Given the description of an element on the screen output the (x, y) to click on. 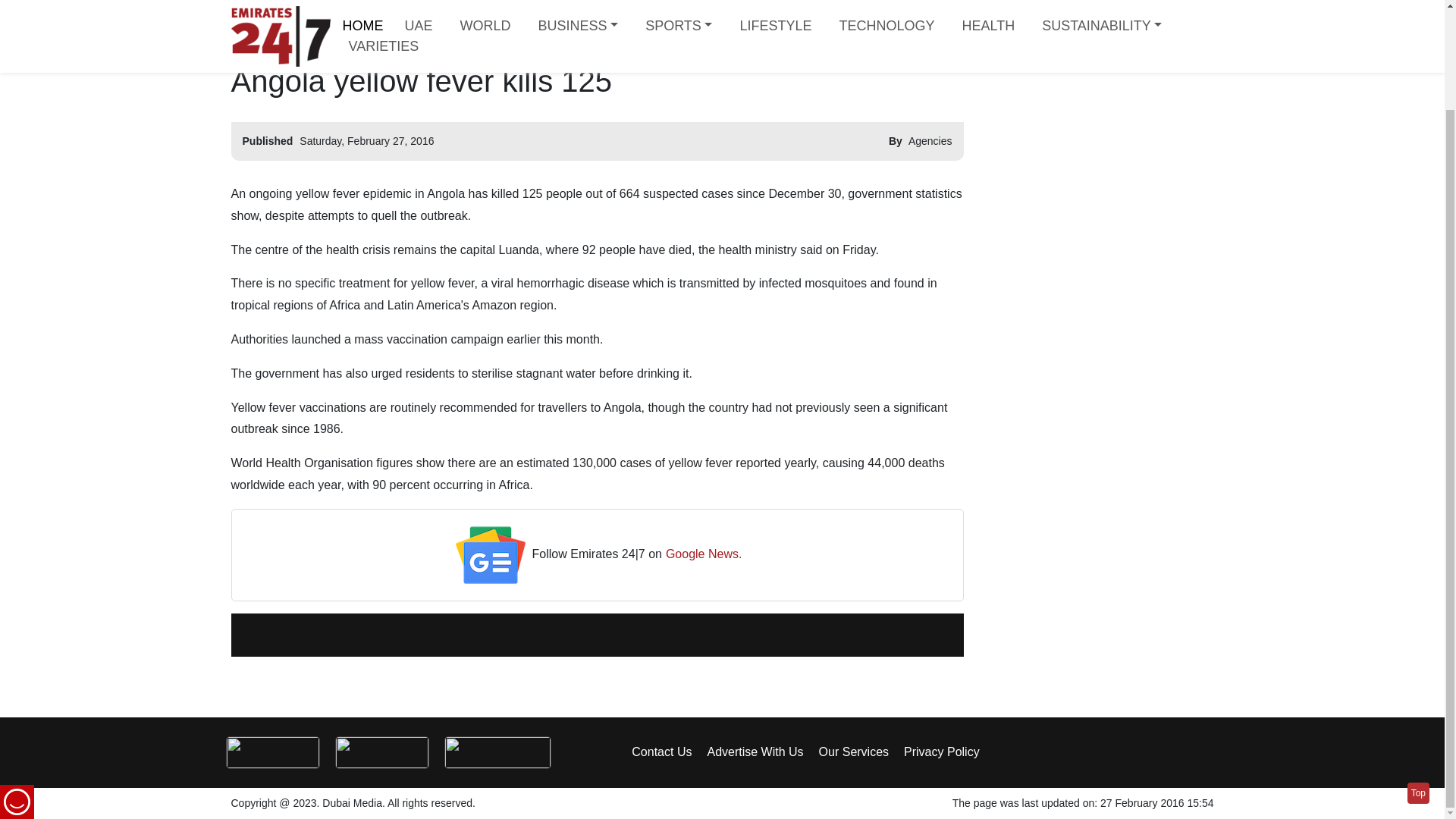
Go to top (1418, 677)
Home (237, 3)
Google News. (703, 554)
News (281, 3)
